Given the description of an element on the screen output the (x, y) to click on. 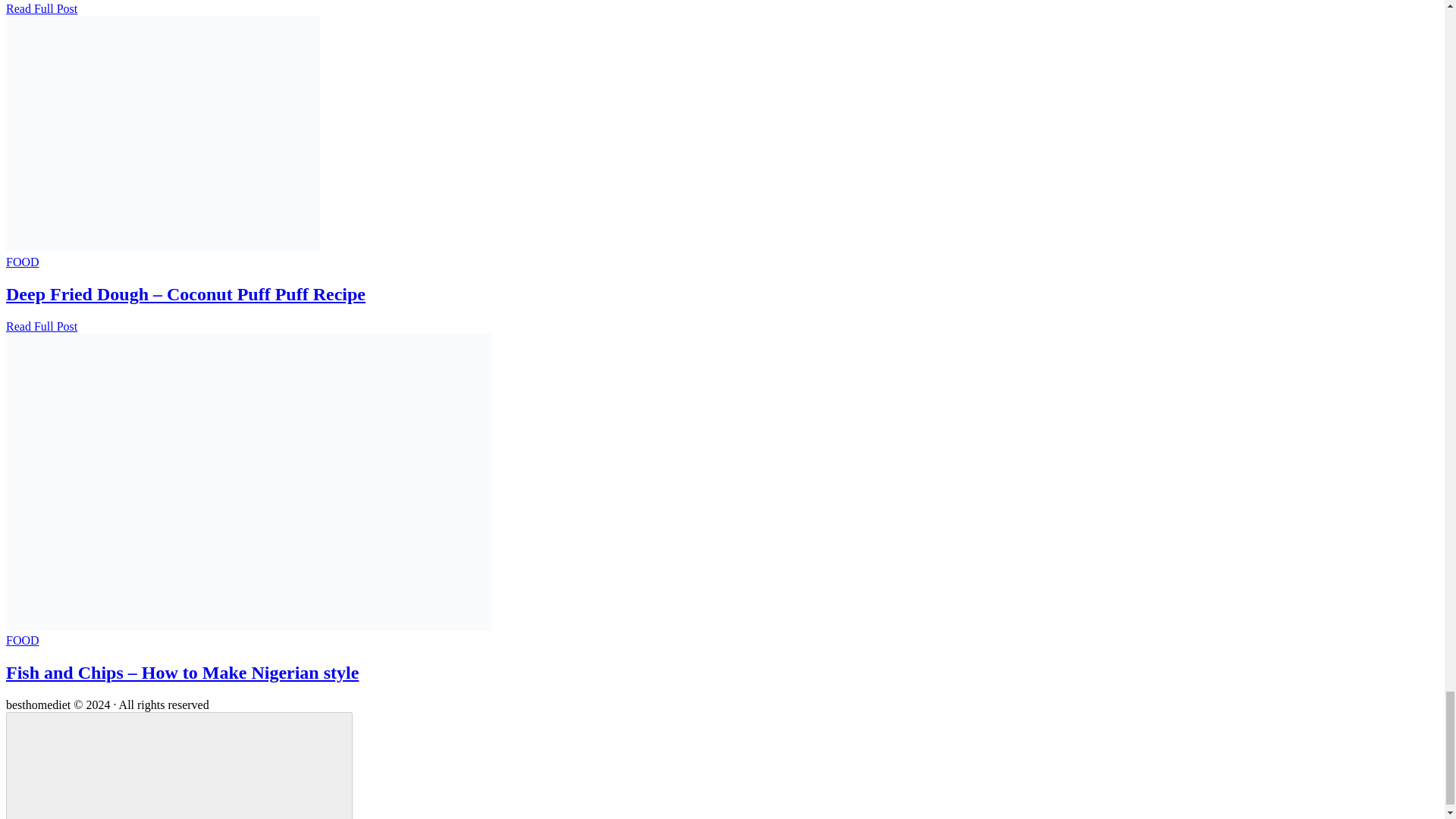
FOOD (22, 261)
